Given the description of an element on the screen output the (x, y) to click on. 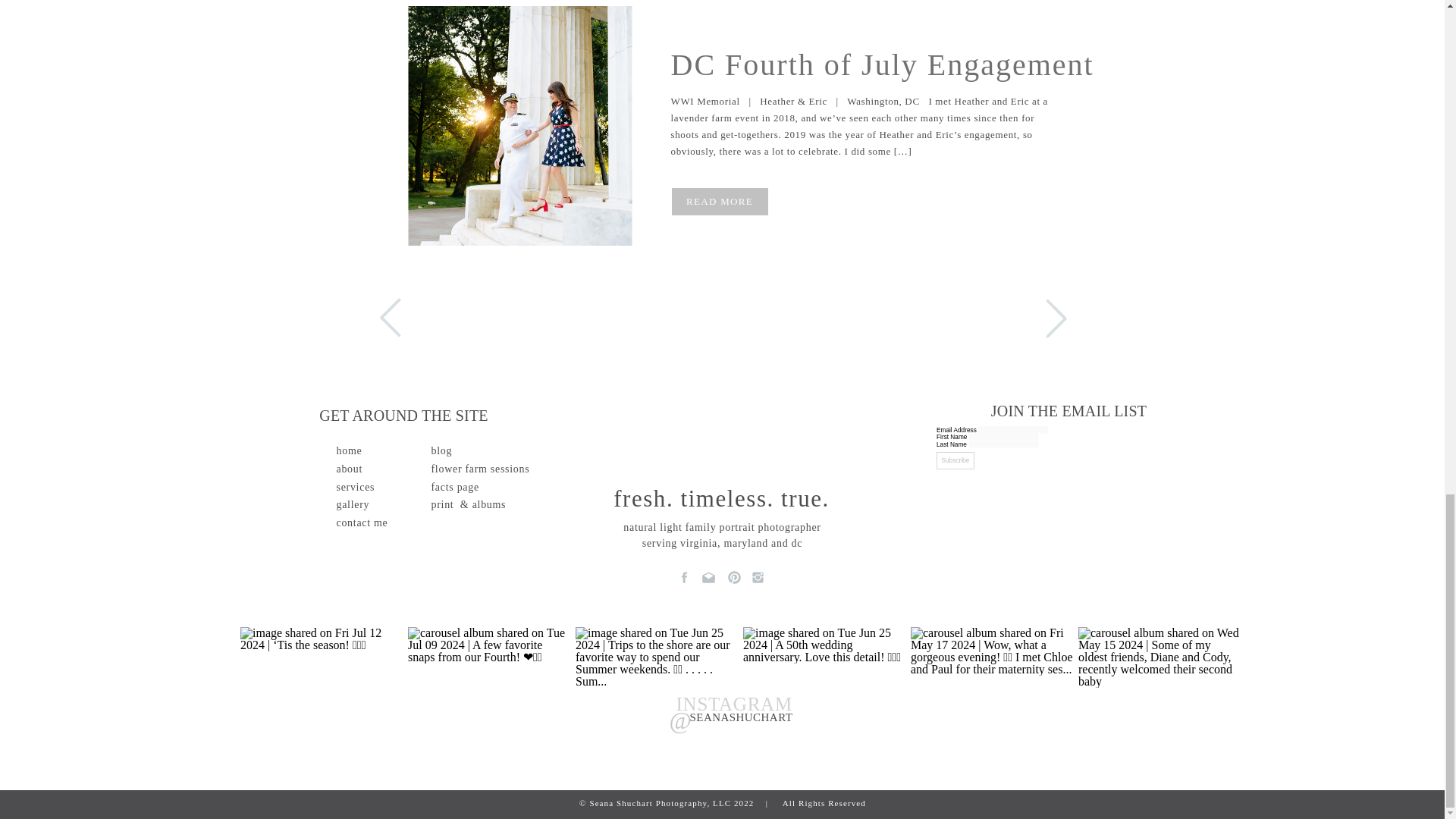
DC Fourth of July Engagement (881, 64)
Subscribe (967, 466)
READ MORE (719, 201)
DC Fourth of July Engagement (519, 125)
DC Fourth of July Engagement (719, 201)
